Given the description of an element on the screen output the (x, y) to click on. 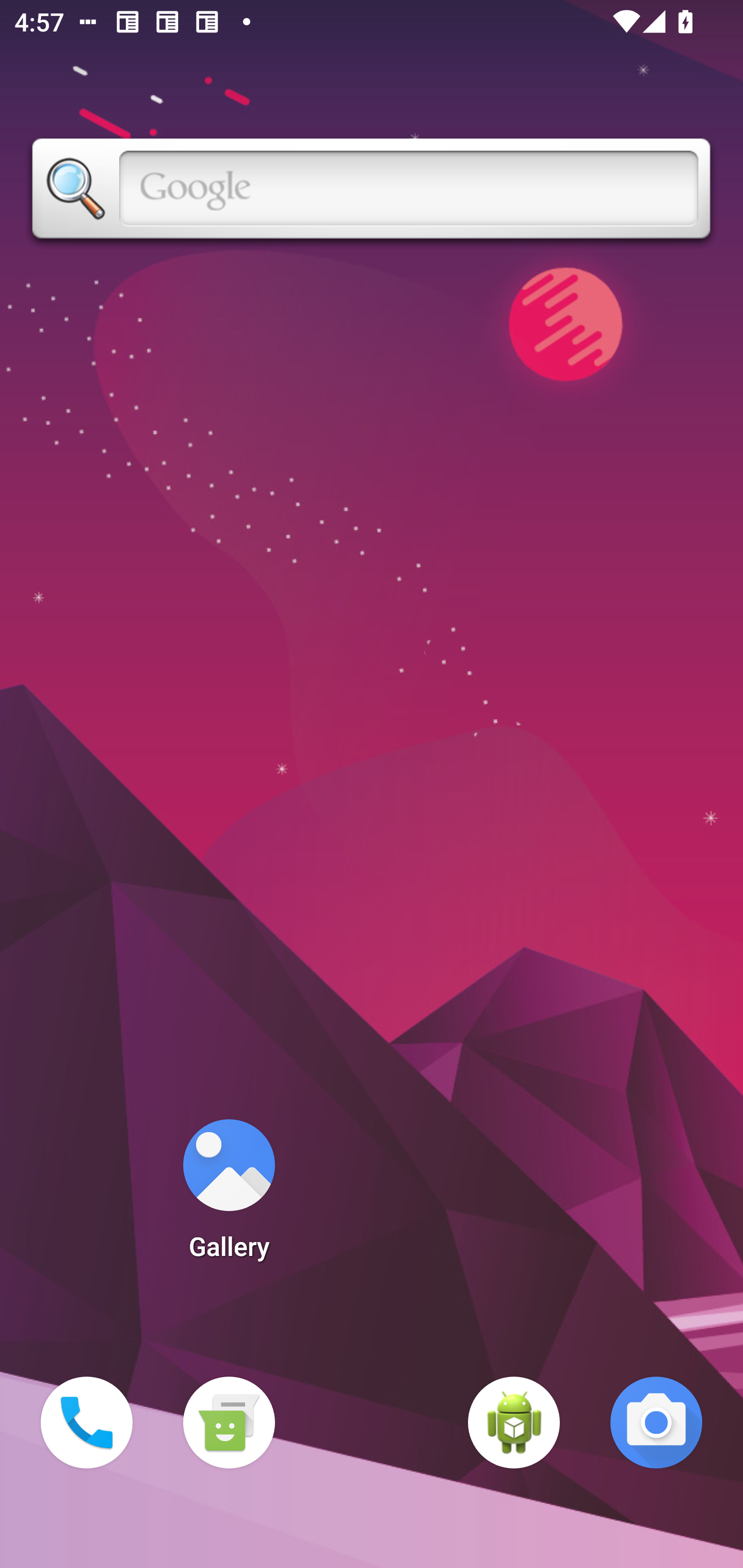
Gallery (228, 1195)
Phone (86, 1422)
Messaging (228, 1422)
WebView Browser Tester (513, 1422)
Camera (656, 1422)
